Given the description of an element on the screen output the (x, y) to click on. 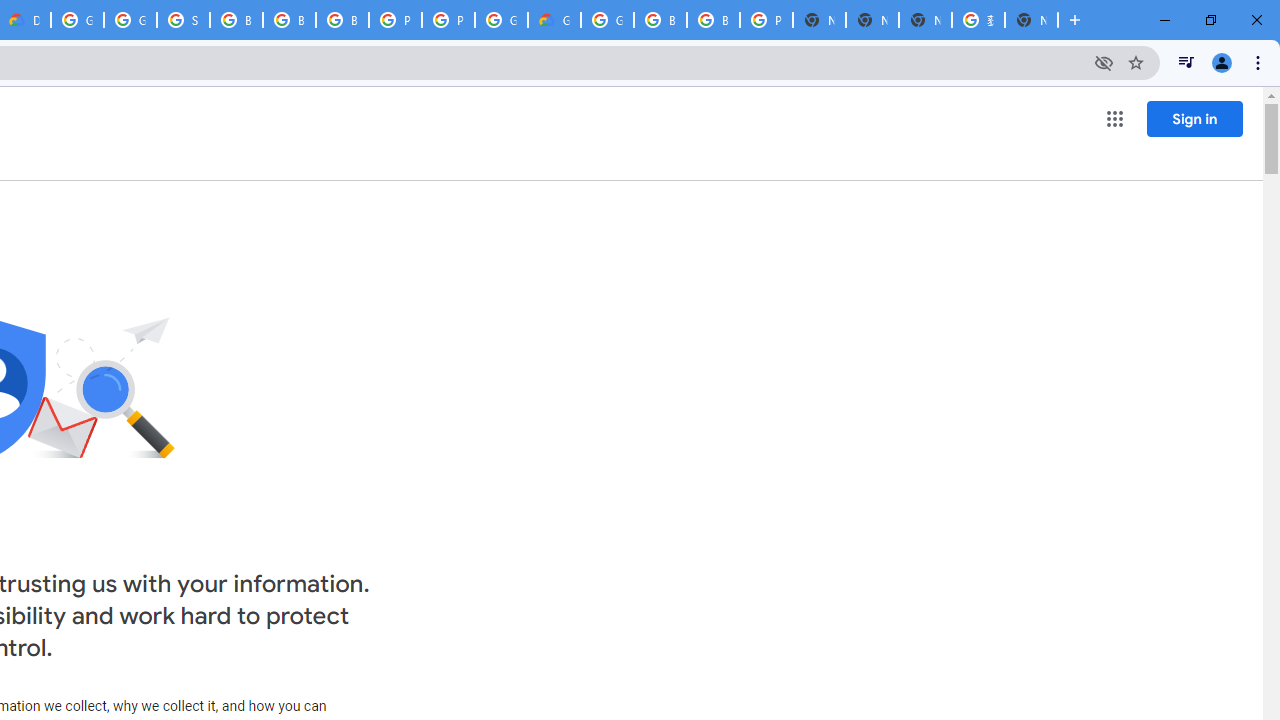
Google Cloud Platform (77, 20)
Browse Chrome as a guest - Computer - Google Chrome Help (660, 20)
Browse Chrome as a guest - Computer - Google Chrome Help (289, 20)
Browse Chrome as a guest - Computer - Google Chrome Help (235, 20)
New Tab (819, 20)
Sign in - Google Accounts (183, 20)
